Given the description of an element on the screen output the (x, y) to click on. 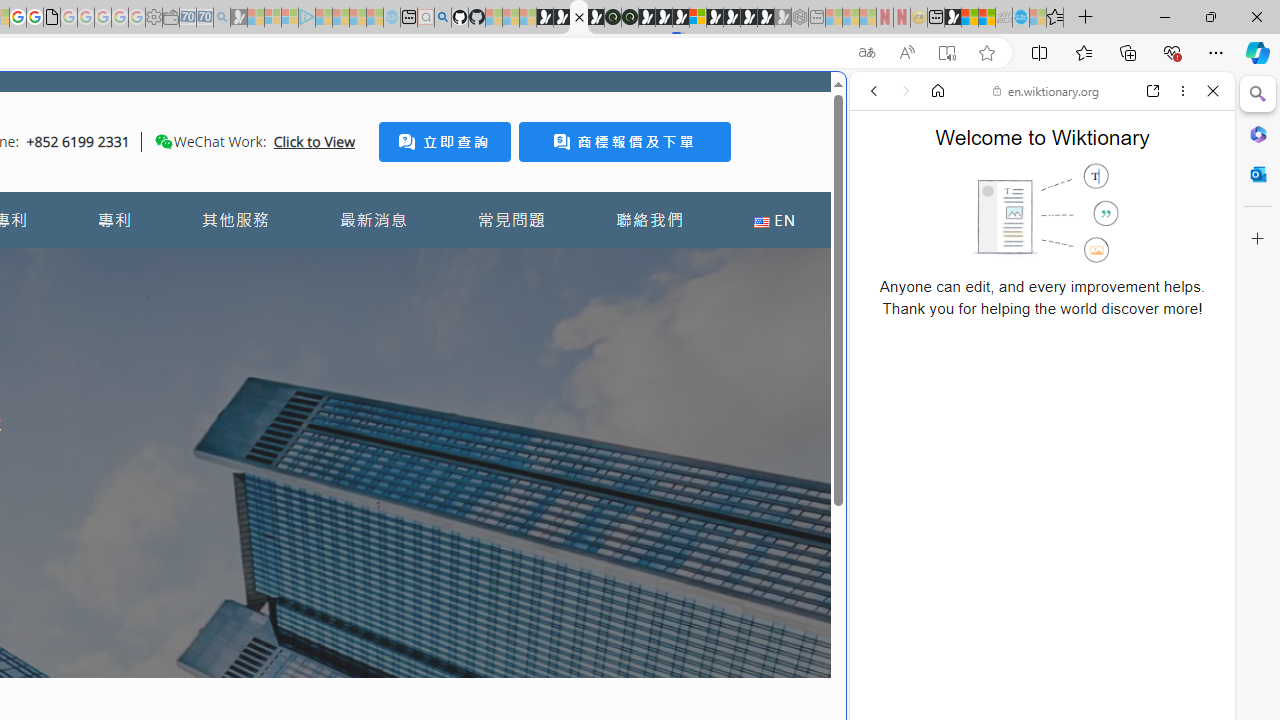
Close split screen (844, 102)
Close Customize pane (1258, 239)
Web scope (882, 180)
